Given the description of an element on the screen output the (x, y) to click on. 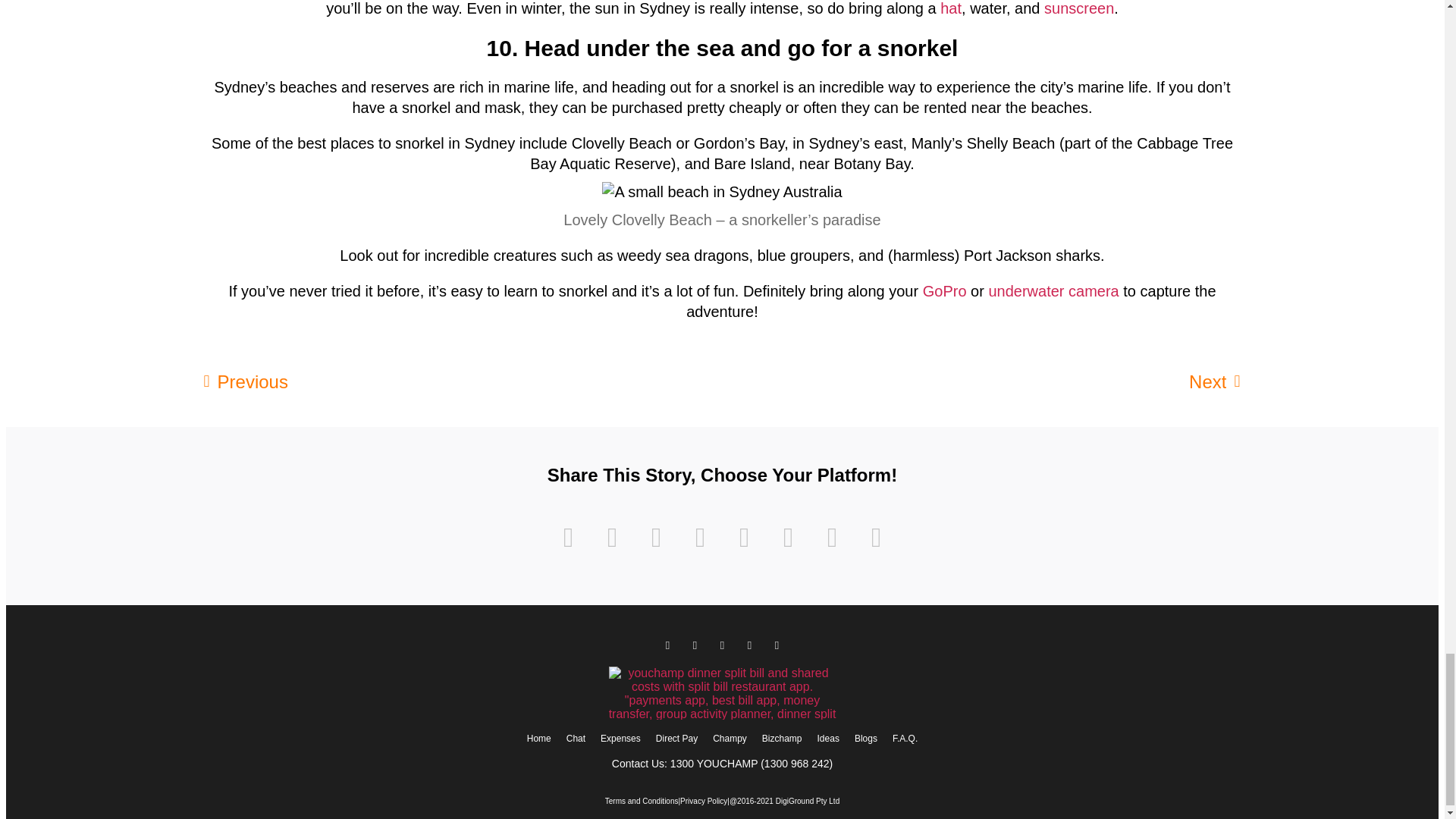
Champy (729, 738)
Blogs (866, 738)
Bizchamp (781, 738)
Next (981, 382)
Ideas (828, 738)
hat (950, 8)
Expenses (619, 738)
Chat (575, 738)
sunscreen (1078, 8)
Previous (462, 382)
